Given the description of an element on the screen output the (x, y) to click on. 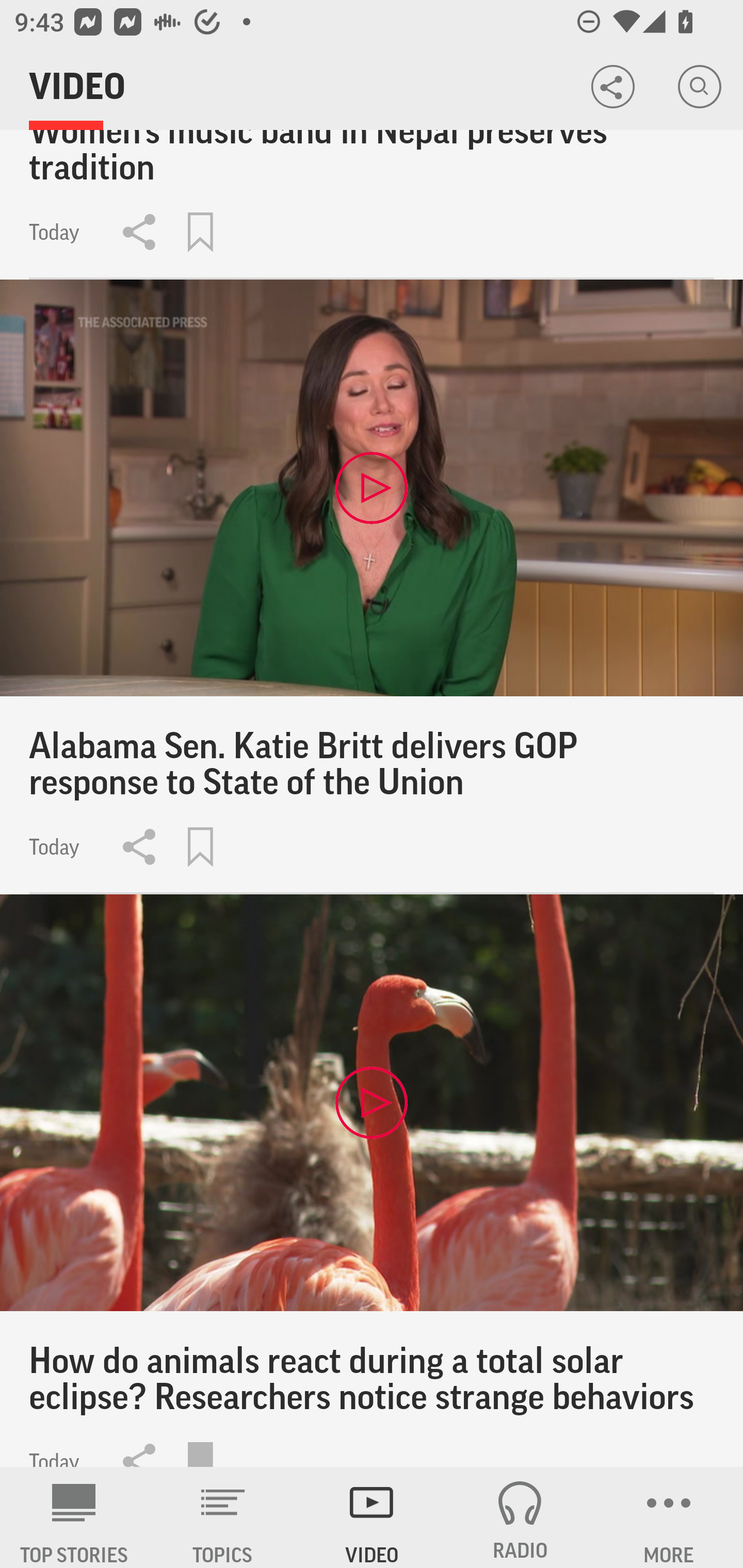
AP News TOP STORIES (74, 1517)
TOPICS (222, 1517)
VIDEO (371, 1517)
RADIO (519, 1517)
MORE (668, 1517)
